Given the description of an element on the screen output the (x, y) to click on. 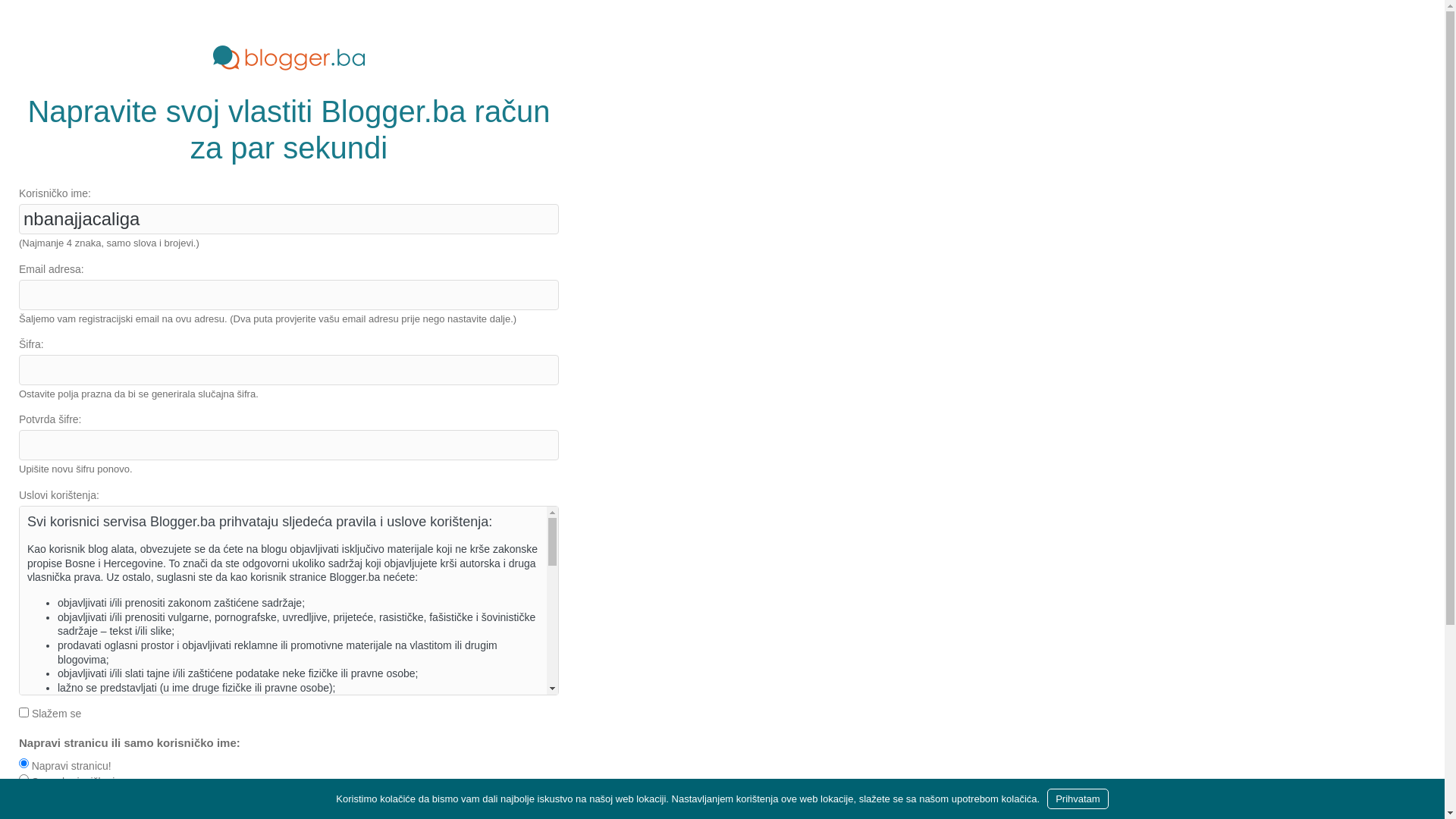
Prihvatam Element type: text (1077, 798)
